Given the description of an element on the screen output the (x, y) to click on. 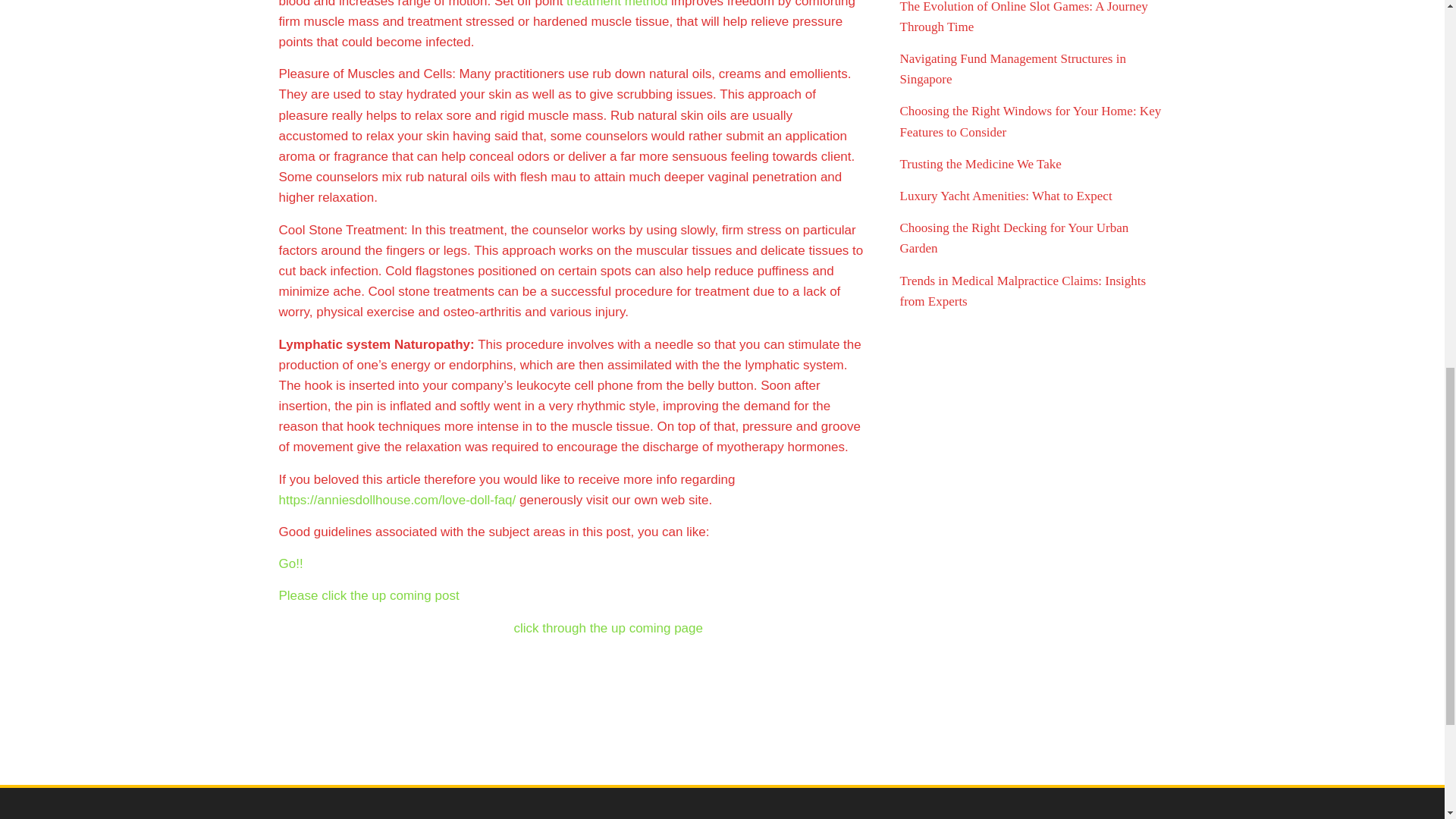
Luxury Yacht Amenities: What to Expect (1005, 196)
Choosing the Right Decking for Your Urban Garden (1013, 237)
click through the up coming page (608, 627)
Trusting the Medicine We Take (980, 164)
The Evolution of Online Slot Games: A Journey Through Time (1023, 17)
Go!! (290, 563)
Trends in Medical Malpractice Claims: Insights from Experts (1022, 290)
Navigating Fund Management Structures in Singapore (1012, 68)
treatment method (616, 4)
